Given the description of an element on the screen output the (x, y) to click on. 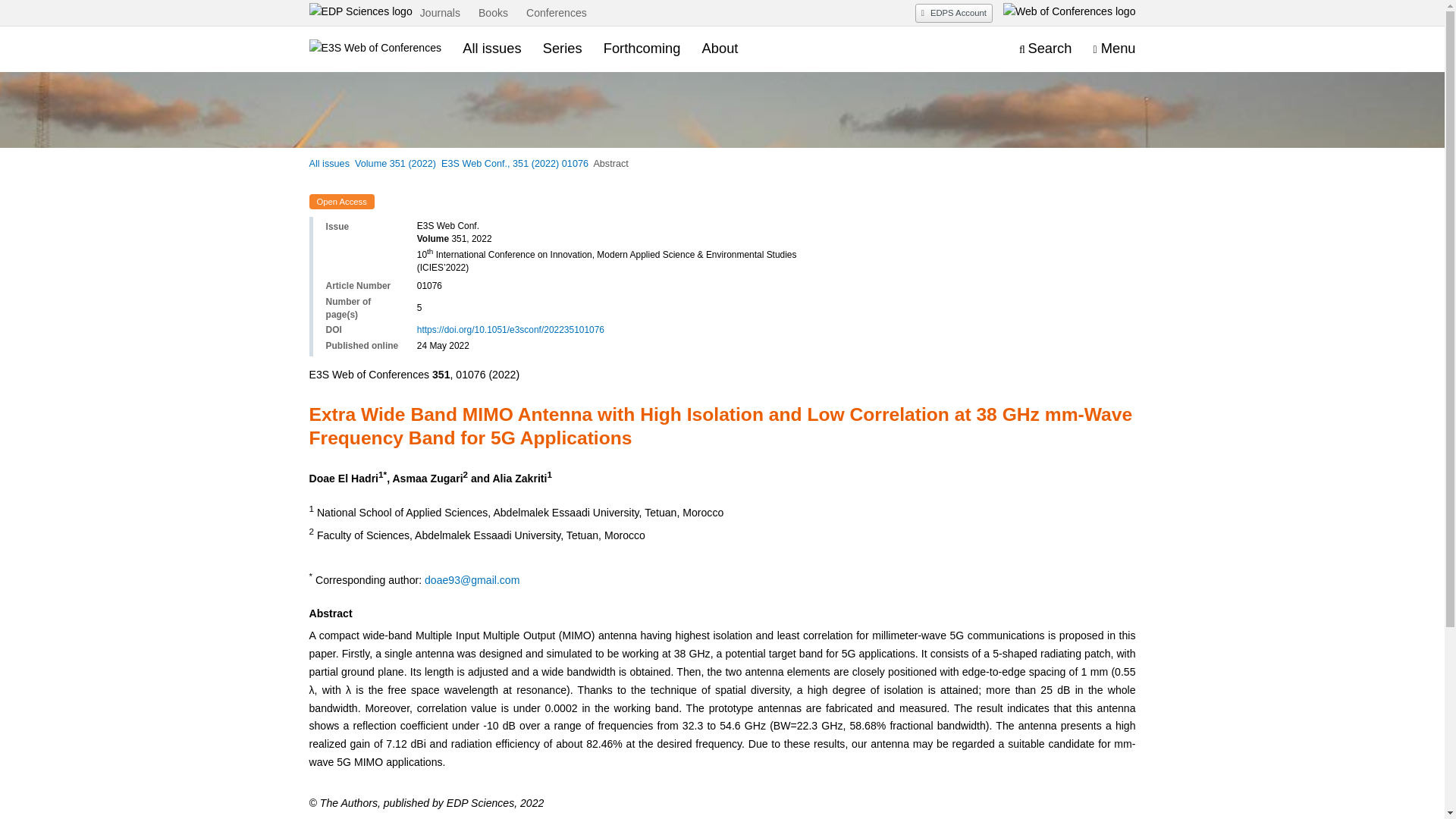
Books (493, 13)
Journal homepage (375, 48)
Journals (440, 13)
Forthcoming (642, 48)
Menu (1114, 48)
Display the search engine (1045, 48)
All issues (492, 48)
All issues (328, 163)
Conferences (556, 13)
